Given the description of an element on the screen output the (x, y) to click on. 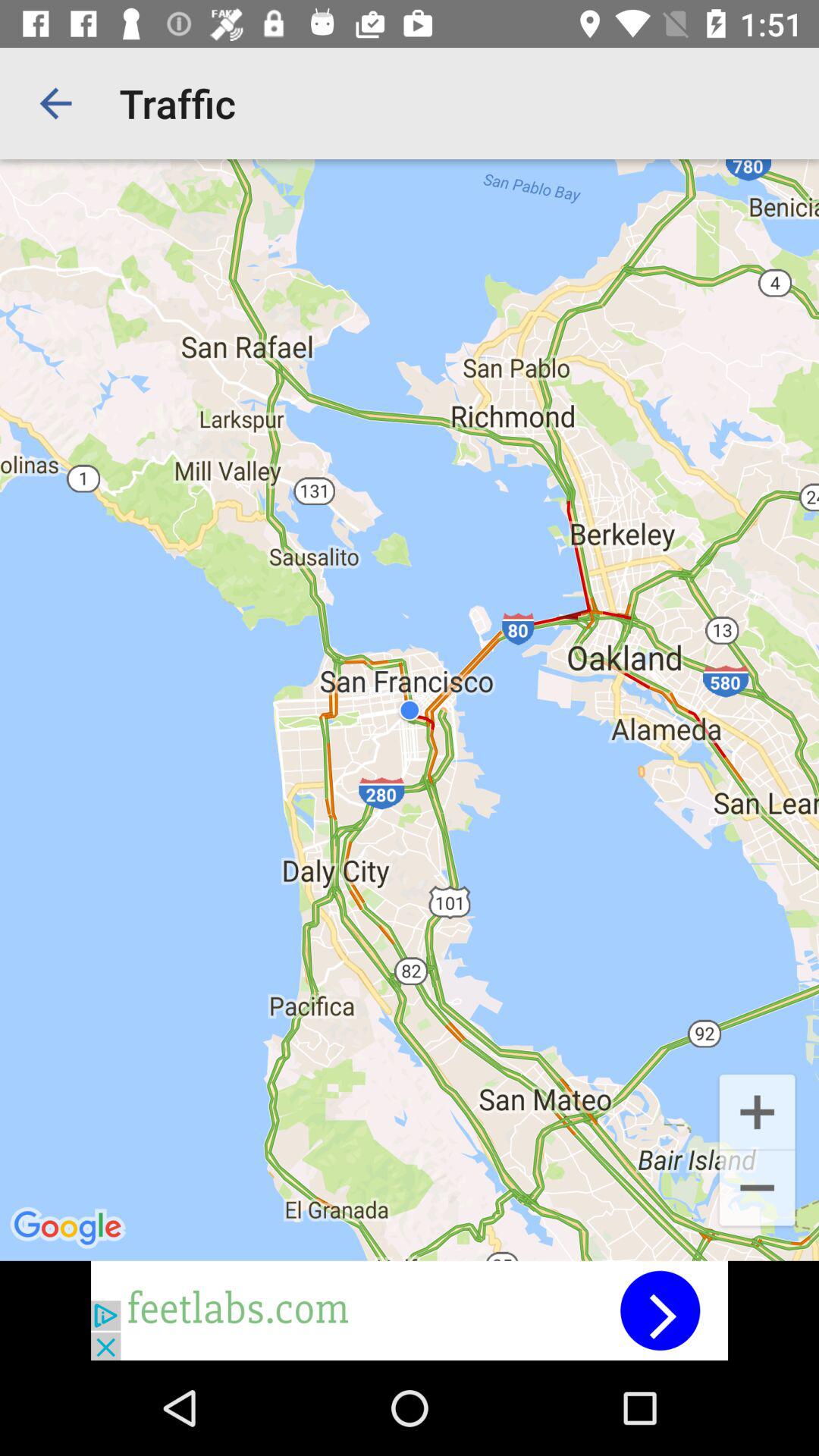
feetlabs.com icon (409, 1310)
